Given the description of an element on the screen output the (x, y) to click on. 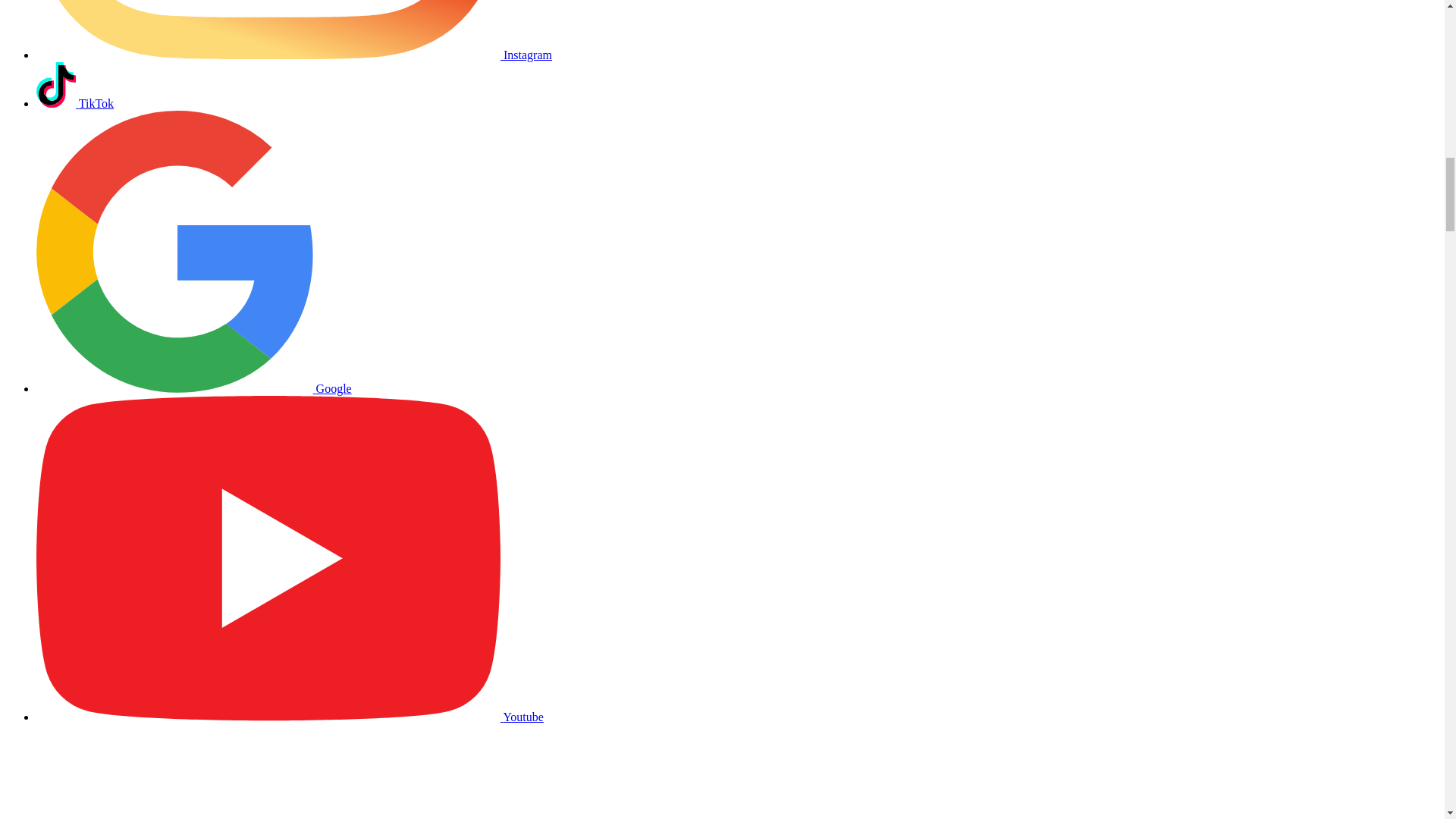
Google (194, 388)
RealSelf (715, 771)
Instagram (293, 54)
Youtube (289, 716)
Instagram (268, 29)
TikTok (74, 103)
